Given the description of an element on the screen output the (x, y) to click on. 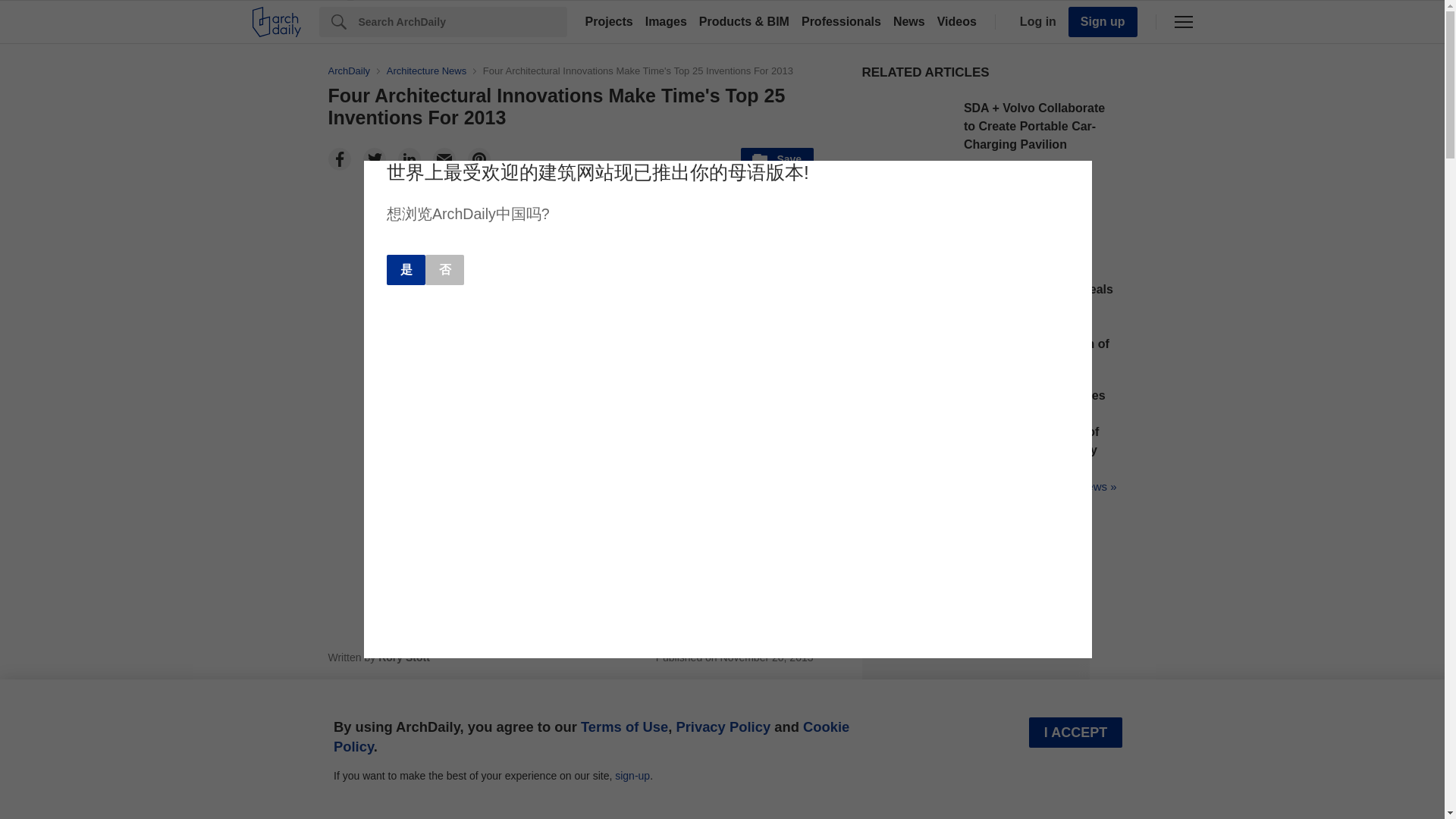
Log in (1035, 21)
Sign up (1102, 21)
Professionals (840, 21)
Videos (956, 21)
Images (666, 21)
News (908, 21)
Projects (609, 21)
